Given the description of an element on the screen output the (x, y) to click on. 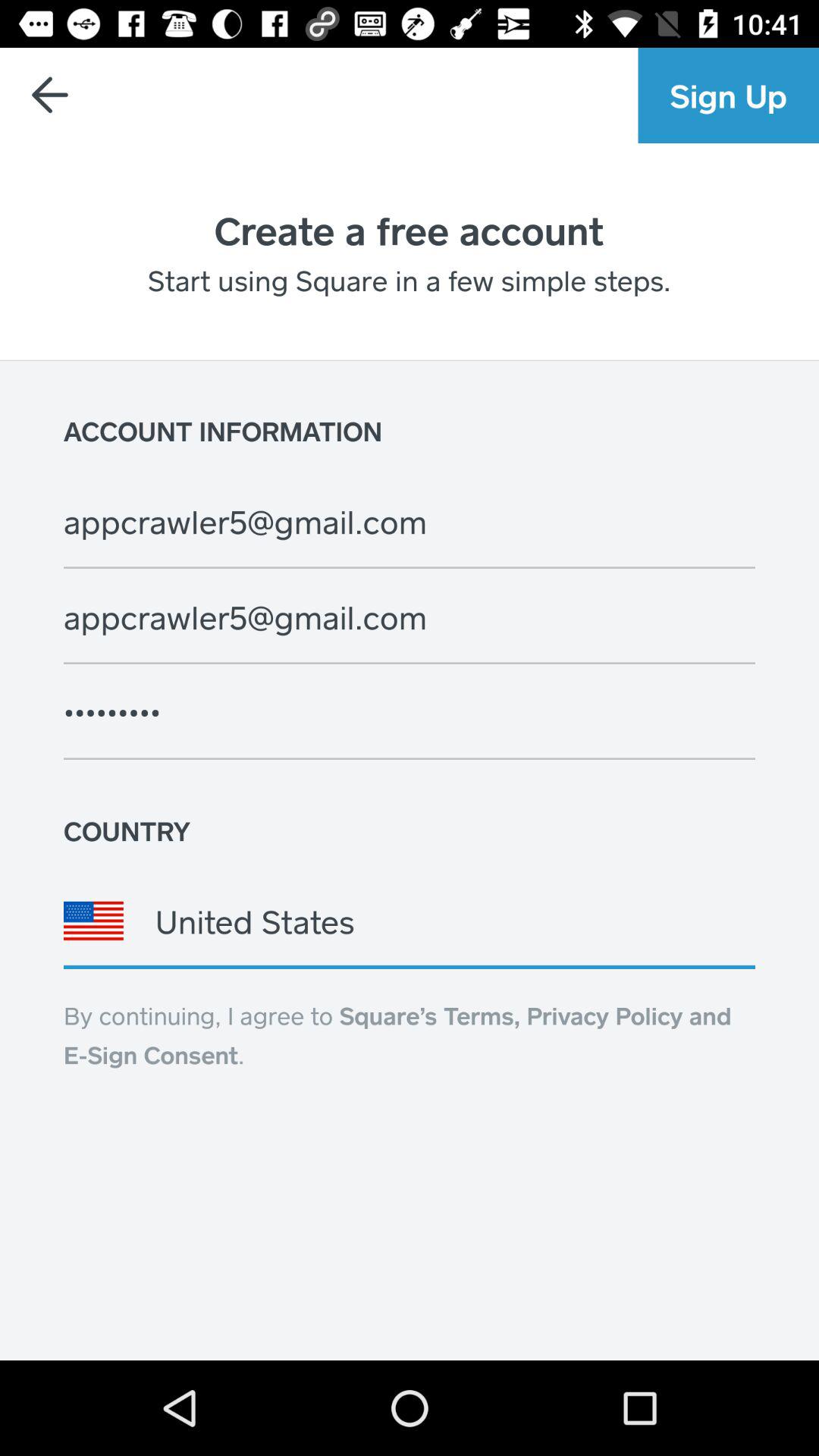
press item below the create a free (408, 279)
